Given the description of an element on the screen output the (x, y) to click on. 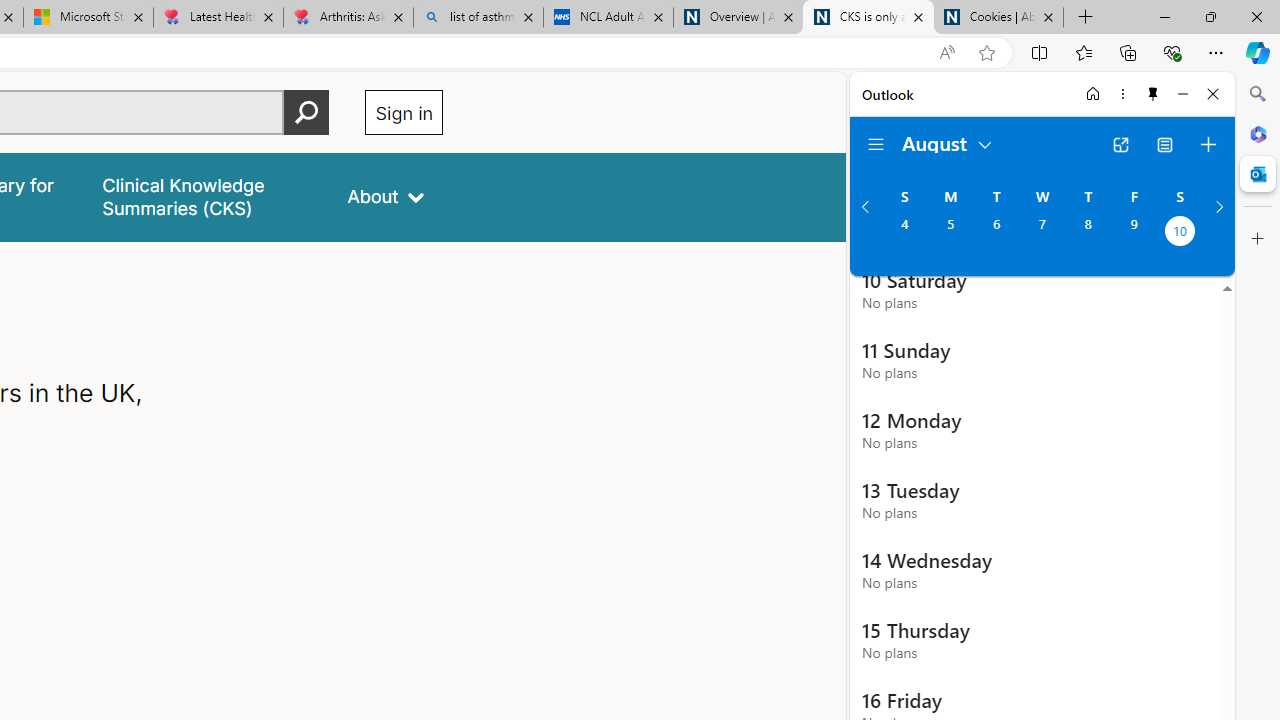
Add this page to favorites (Ctrl+D) (986, 53)
August (948, 141)
Settings and more (Alt+F) (1215, 52)
NCL Adult Asthma Inhaler Choice Guideline (608, 17)
View Switcher. Current view is Agenda view (1165, 144)
Favorites (1083, 52)
Folder navigation (876, 144)
Sunday, August 4, 2024.  (904, 233)
Cookies | About | NICE (998, 17)
Saturday, August 10, 2024. Date selected.  (1180, 233)
More options (1122, 93)
Tuesday, August 6, 2024.  (996, 233)
Search (1258, 94)
Wednesday, August 7, 2024.  (1042, 233)
Home (1093, 93)
